Given the description of an element on the screen output the (x, y) to click on. 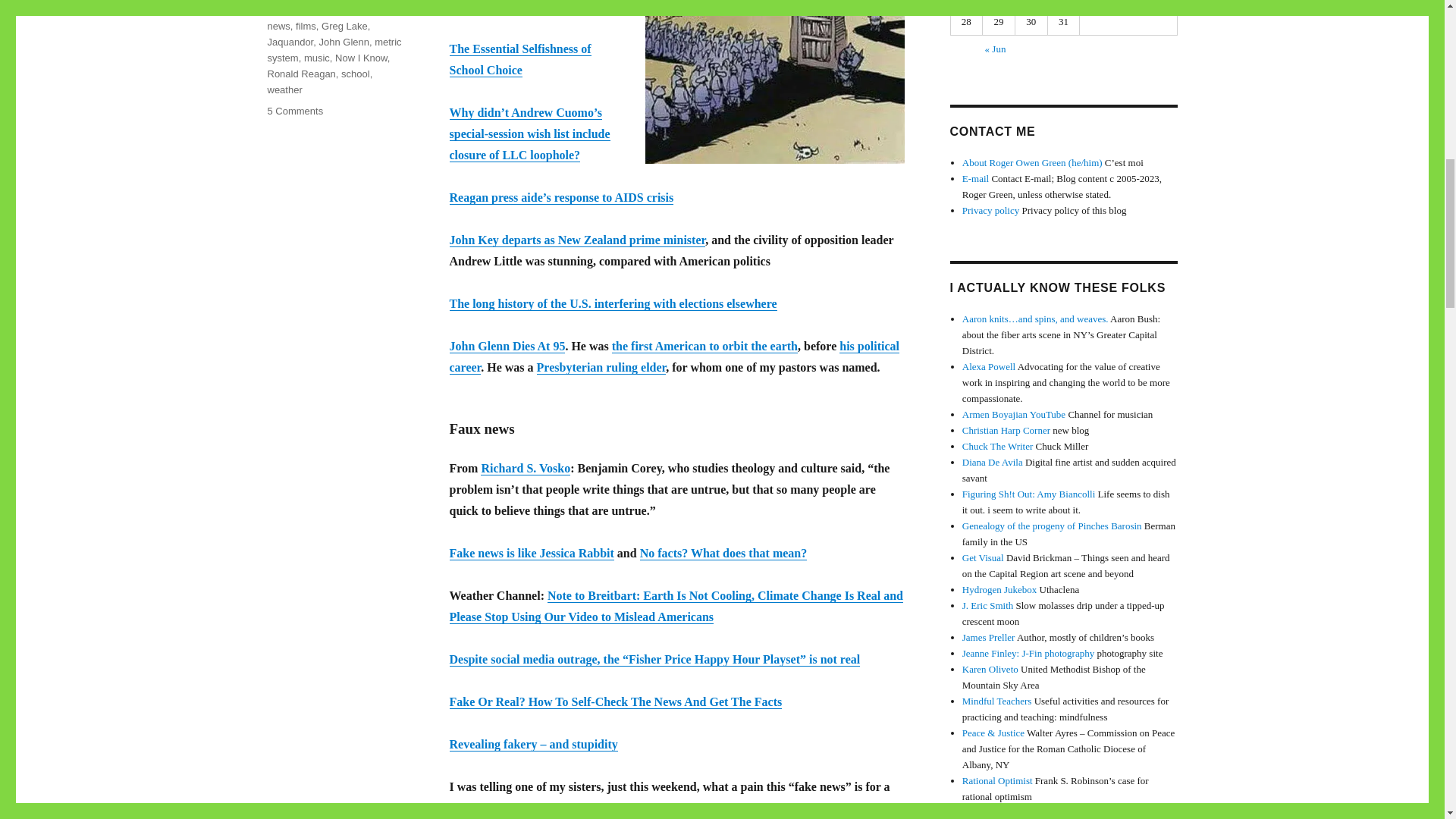
Channel for musician (1013, 414)
his political career (673, 356)
John Glenn Dies At 95 (506, 345)
Fake Or Real? How To Self-Check The News And Get The Facts (614, 701)
Richard S. Vosko (525, 468)
Fake news is like Jessica Rabbit (530, 553)
No facts? What does that mean? (724, 553)
Chuck Miller (997, 446)
The Essential Selfishness of School Choice (519, 59)
the first American to orbit the earth (704, 345)
